Given the description of an element on the screen output the (x, y) to click on. 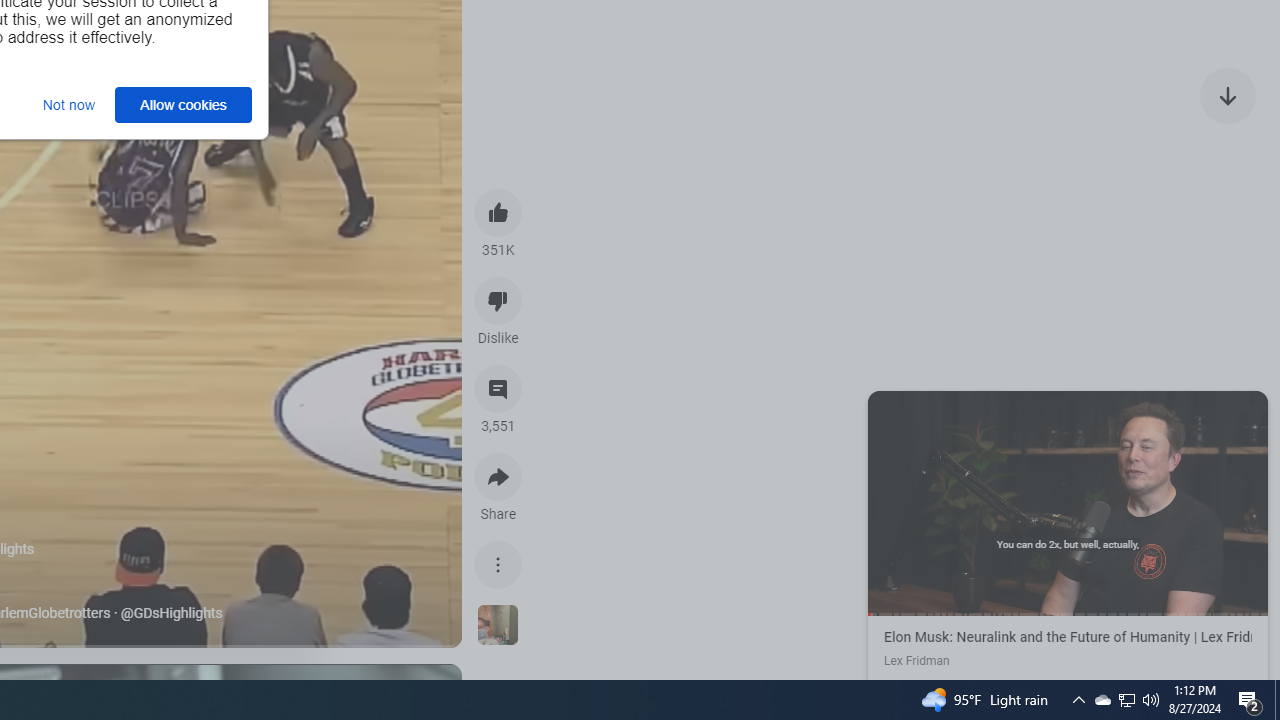
Allow cookies (183, 104)
Seek slider (1067, 614)
See more videos using this sound (497, 626)
Not now (68, 104)
Expand (i) (887, 410)
More actions (498, 564)
View 3,551 comments (498, 389)
Pause (k) (1067, 501)
like this video along with 351K other people (498, 212)
Share (498, 476)
Dislike this video (498, 300)
Next video (1227, 94)
